Given the description of an element on the screen output the (x, y) to click on. 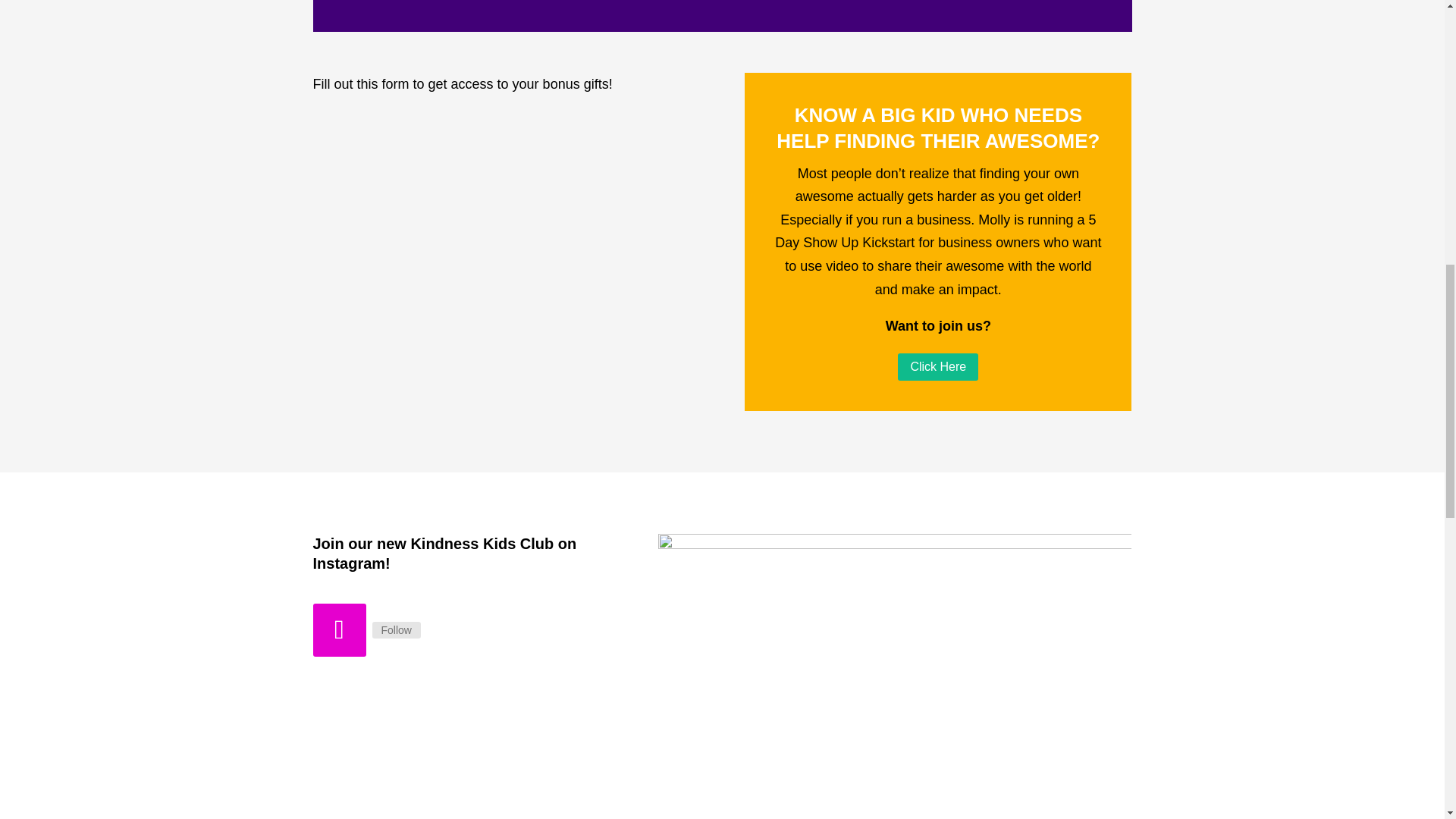
Follow (395, 629)
Click Here (938, 366)
Instagram (395, 629)
Follow on Instagram (339, 629)
